Given the description of an element on the screen output the (x, y) to click on. 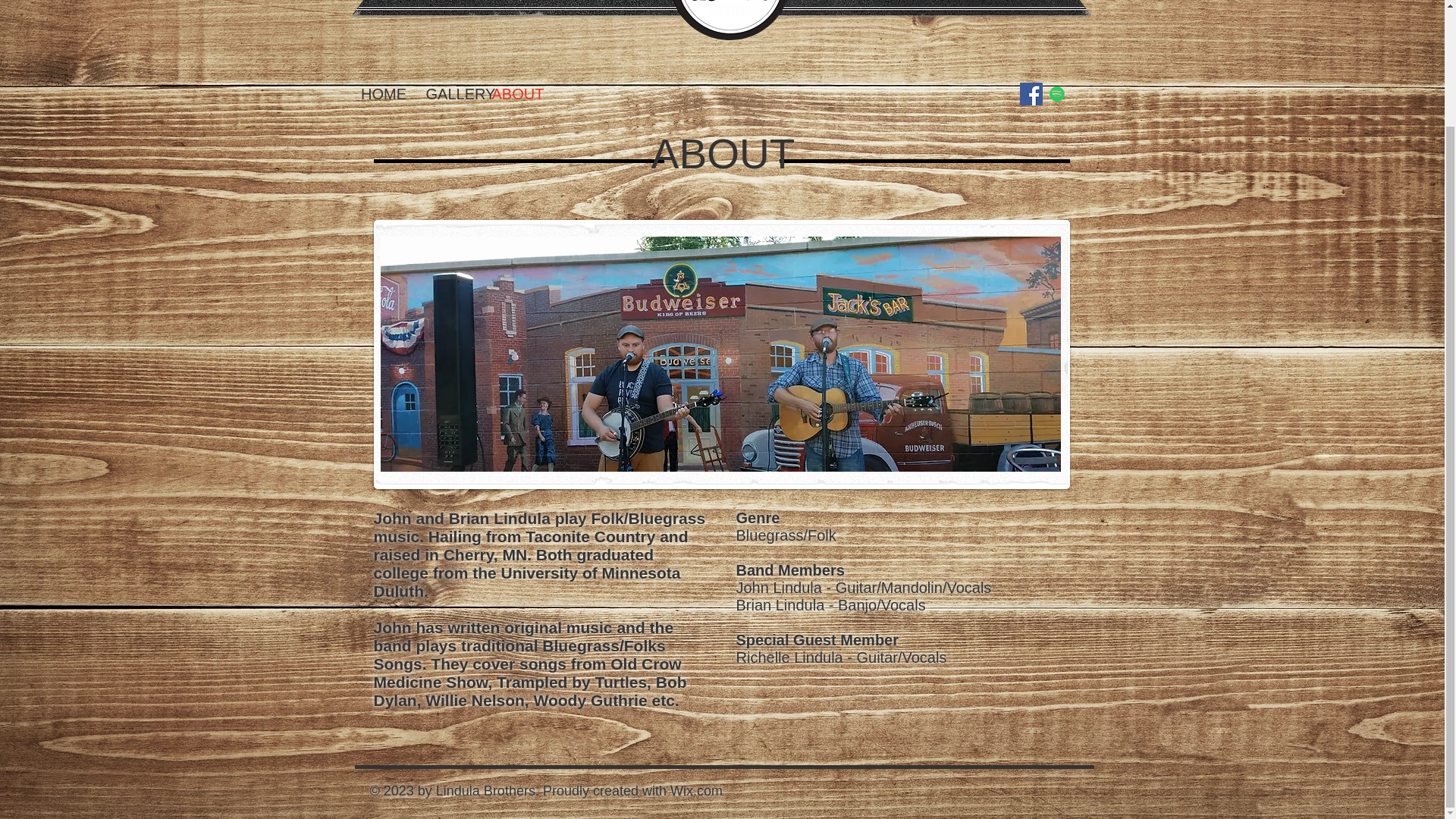
GALLERY (449, 93)
Wix.com (695, 790)
LINDULA (553, 4)
BROTHERS (909, 2)
HOME (383, 93)
ABOUT (514, 93)
